Given the description of an element on the screen output the (x, y) to click on. 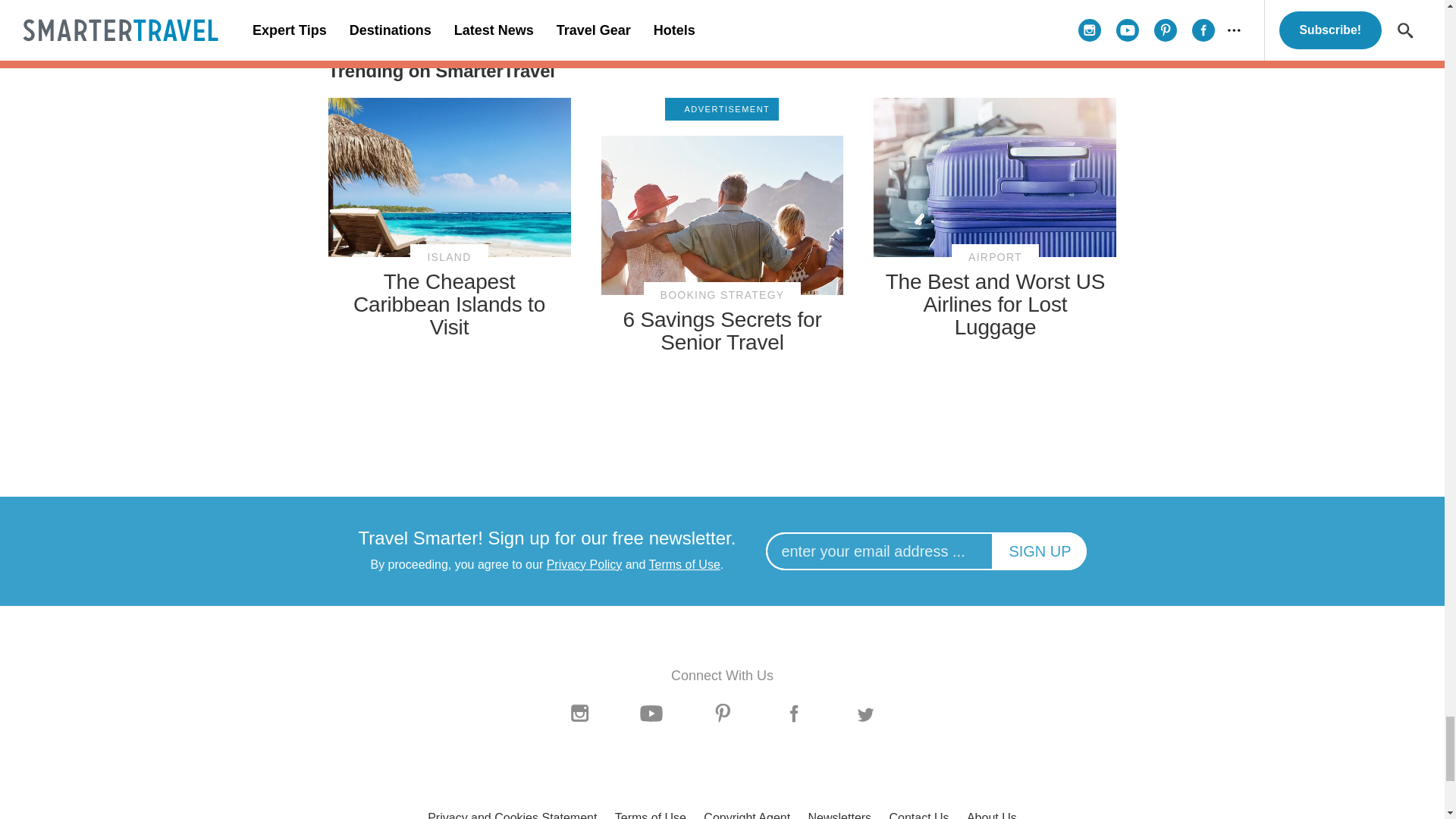
View all posts in Island (448, 257)
View all posts in Booking Strategy (722, 294)
View all posts in Airport (995, 257)
